Given the description of an element on the screen output the (x, y) to click on. 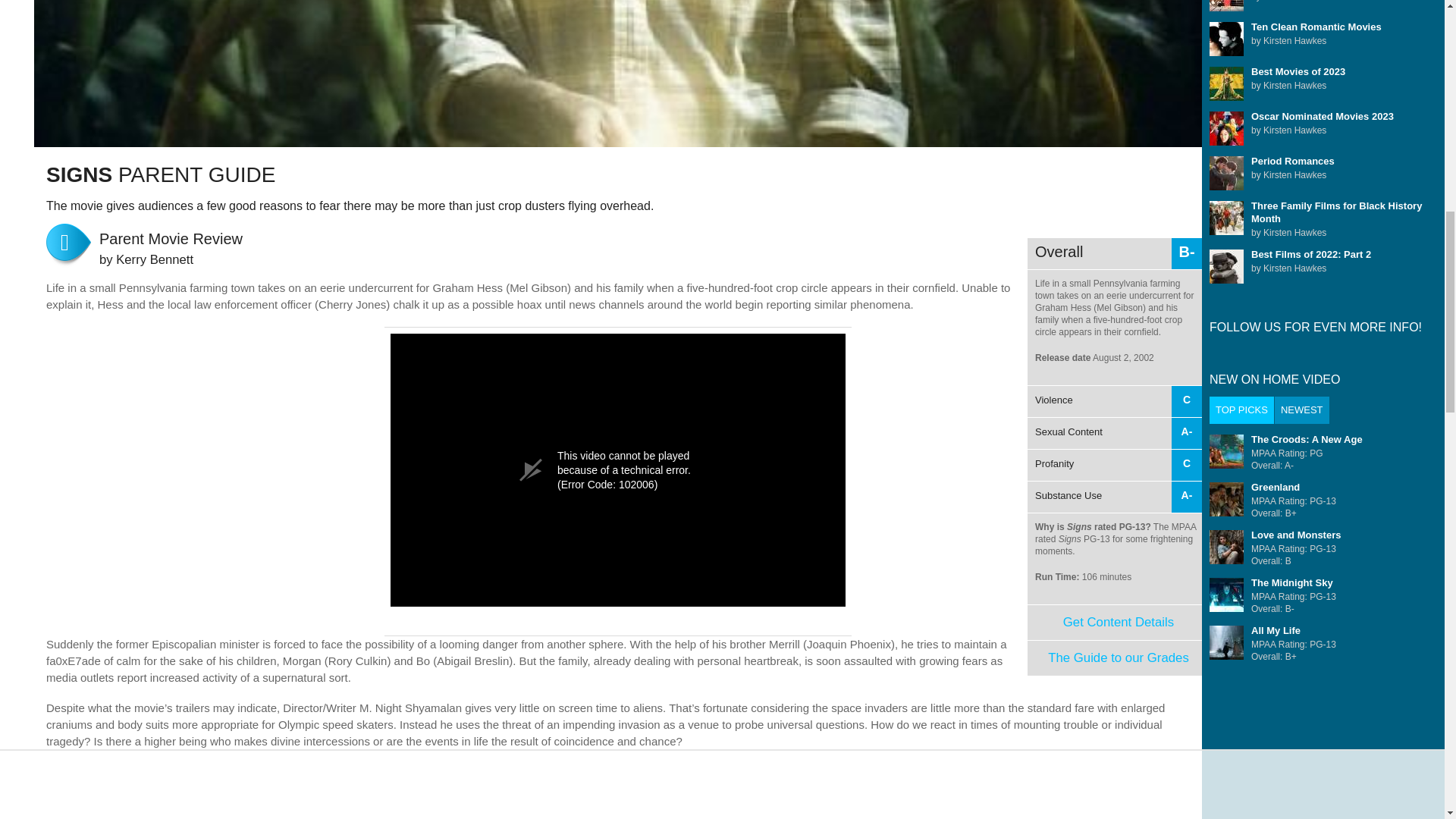
Get Content Details (1114, 448)
The Guide to our Grades (1117, 622)
3rd party ad content (1118, 657)
